Given the description of an element on the screen output the (x, y) to click on. 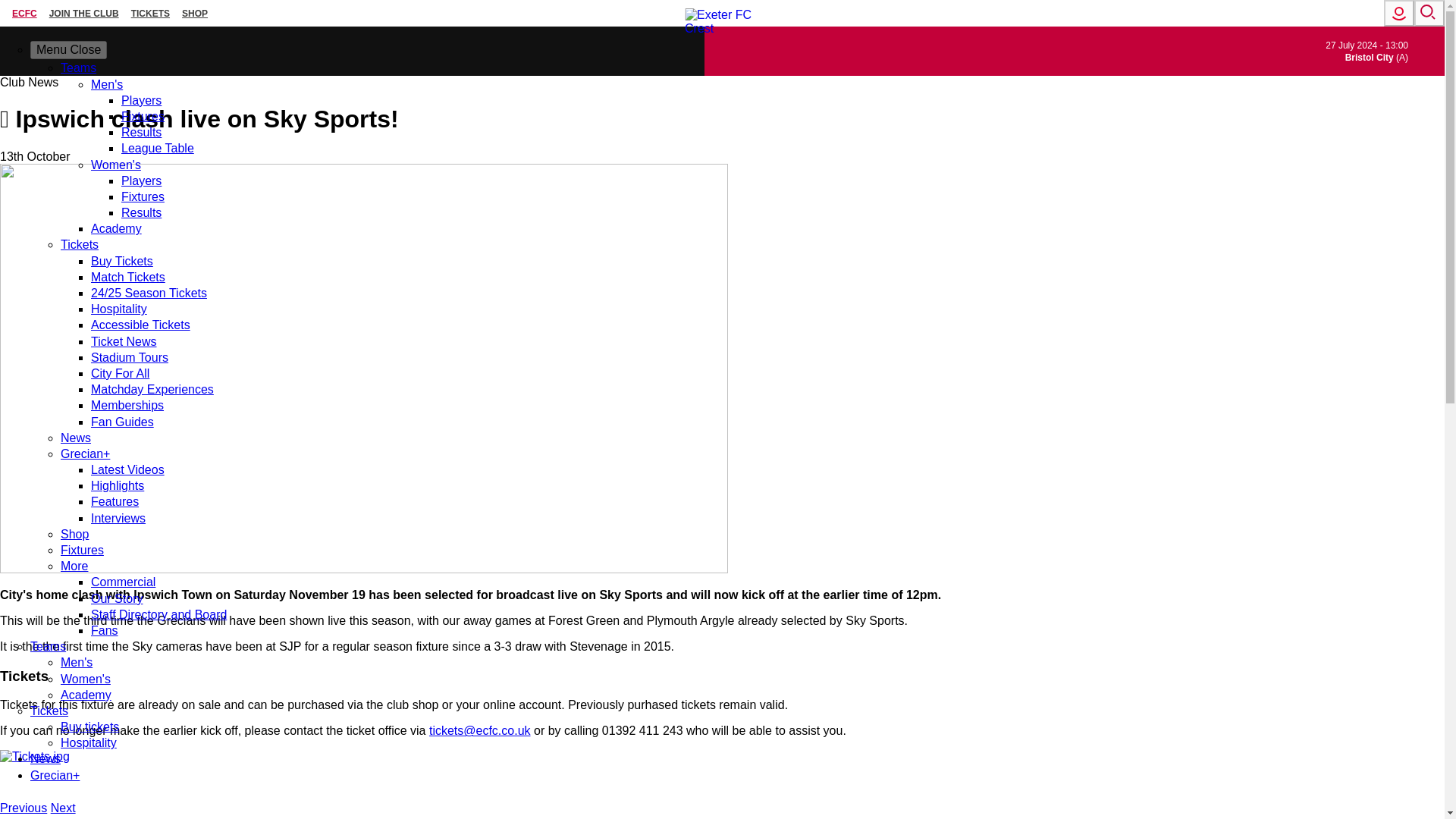
ECFC (24, 13)
Players (140, 180)
JOIN THE CLUB (84, 13)
Features (114, 501)
Tickets (80, 244)
League Table (156, 147)
Latest Videos (127, 469)
Results (140, 132)
Matchday Experiences (152, 389)
Highlights (117, 485)
SHOP (195, 13)
Women's (115, 164)
Menu Close (68, 49)
TICKETS (150, 13)
Match Tickets (127, 277)
